Given the description of an element on the screen output the (x, y) to click on. 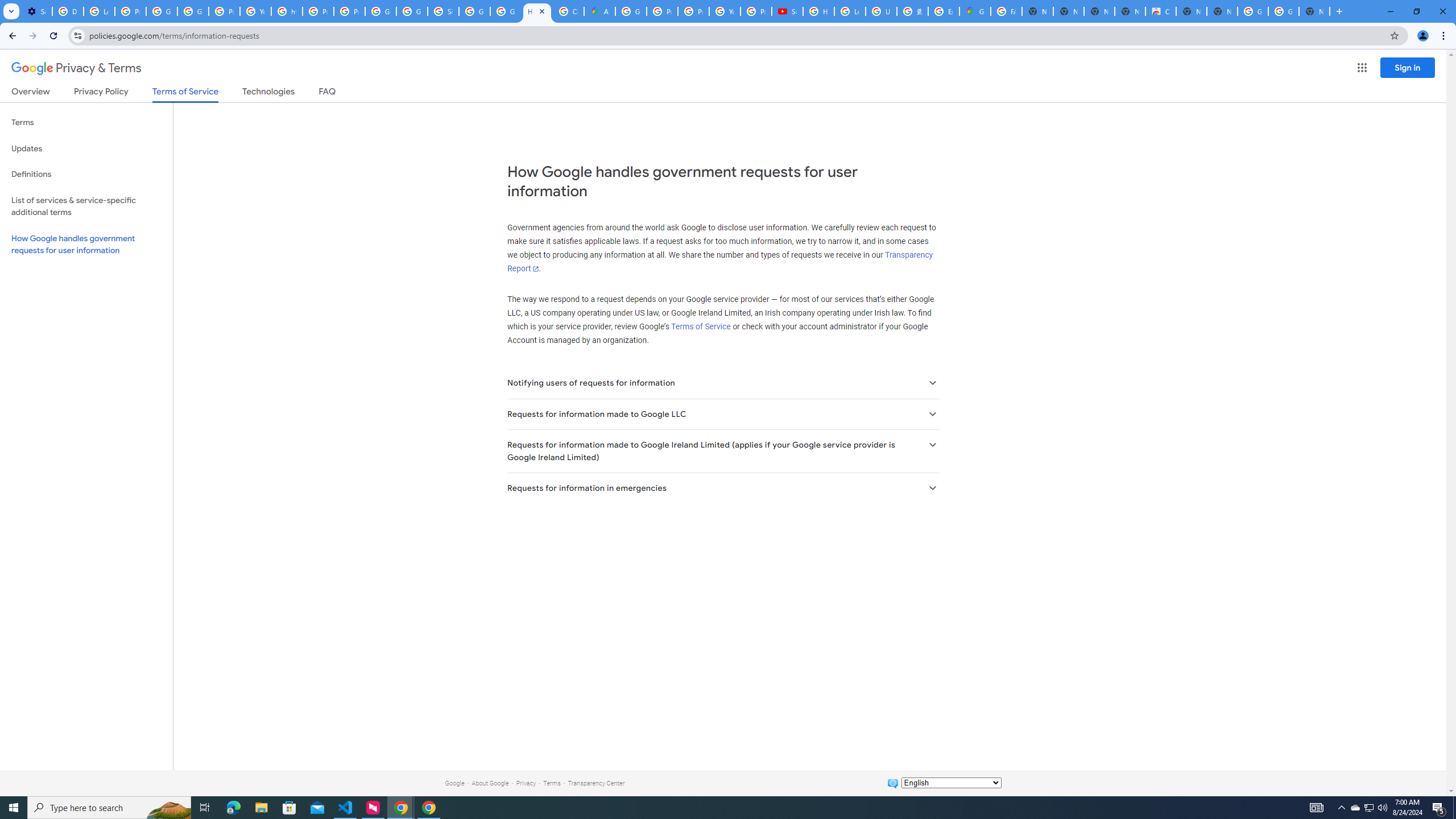
Privacy Help Center - Policies Help (318, 11)
Learn how to find your photos - Google Photos Help (98, 11)
Google Images (1283, 11)
YouTube (255, 11)
